Given the description of an element on the screen output the (x, y) to click on. 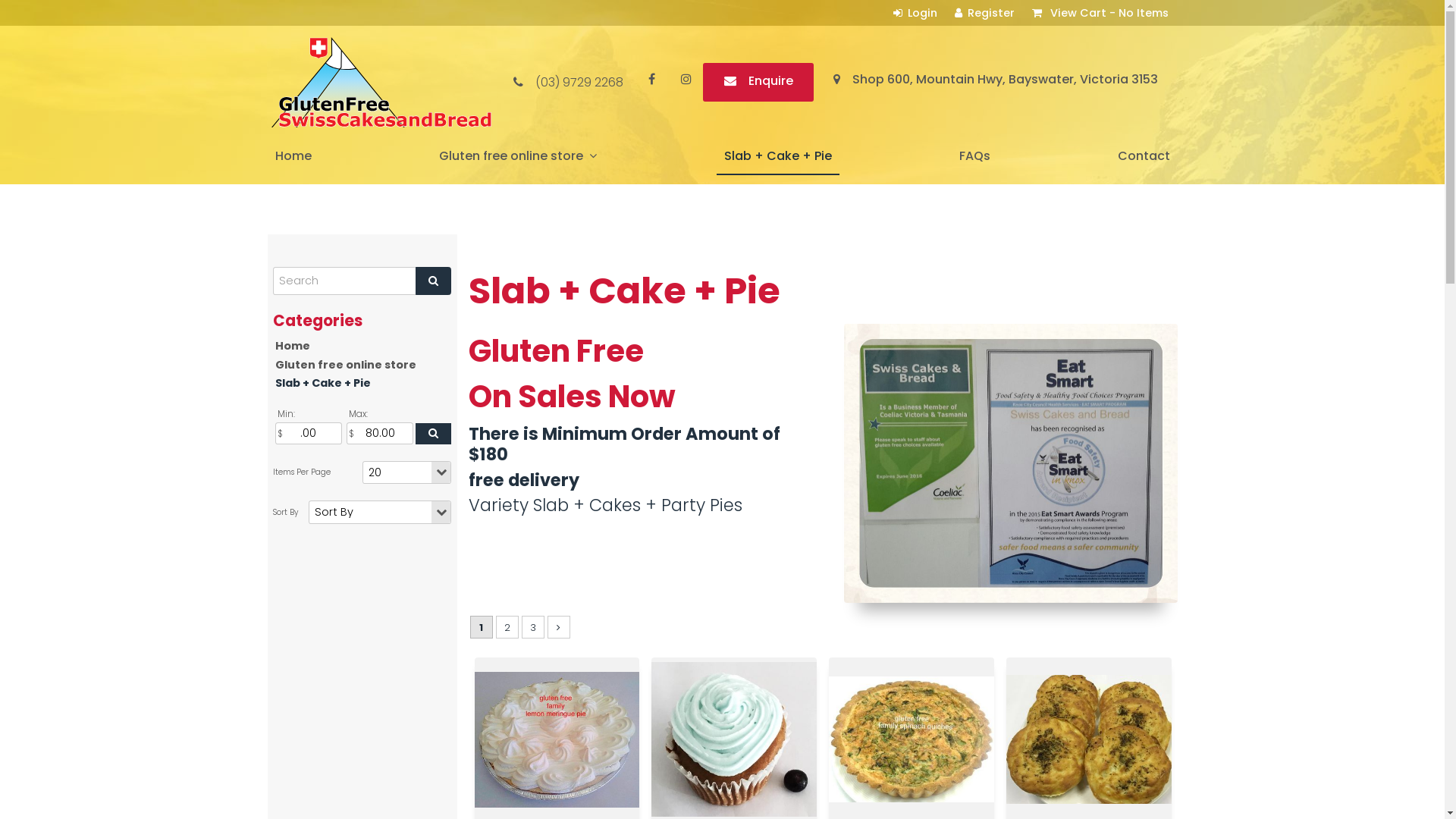
Home Element type: text (292, 156)
Gluten free online store Element type: text (516, 156)
Slab + Cake + Pie Element type: text (362, 383)
Home Element type: text (362, 345)
1 Element type: text (481, 626)
View Cart - No Items Element type: text (1100, 12)
Enquire Element type: text (757, 81)
2 Element type: text (506, 626)
Slab + Cake + Pie Element type: text (776, 156)
3 Element type: text (532, 626)
Contact Element type: text (1143, 156)
Shop 600, Mountain Hwy, Bayswater, Victoria 3153 Element type: text (994, 81)
FAQs Element type: text (973, 156)
Gluten free online store Element type: text (362, 364)
